Given the description of an element on the screen output the (x, y) to click on. 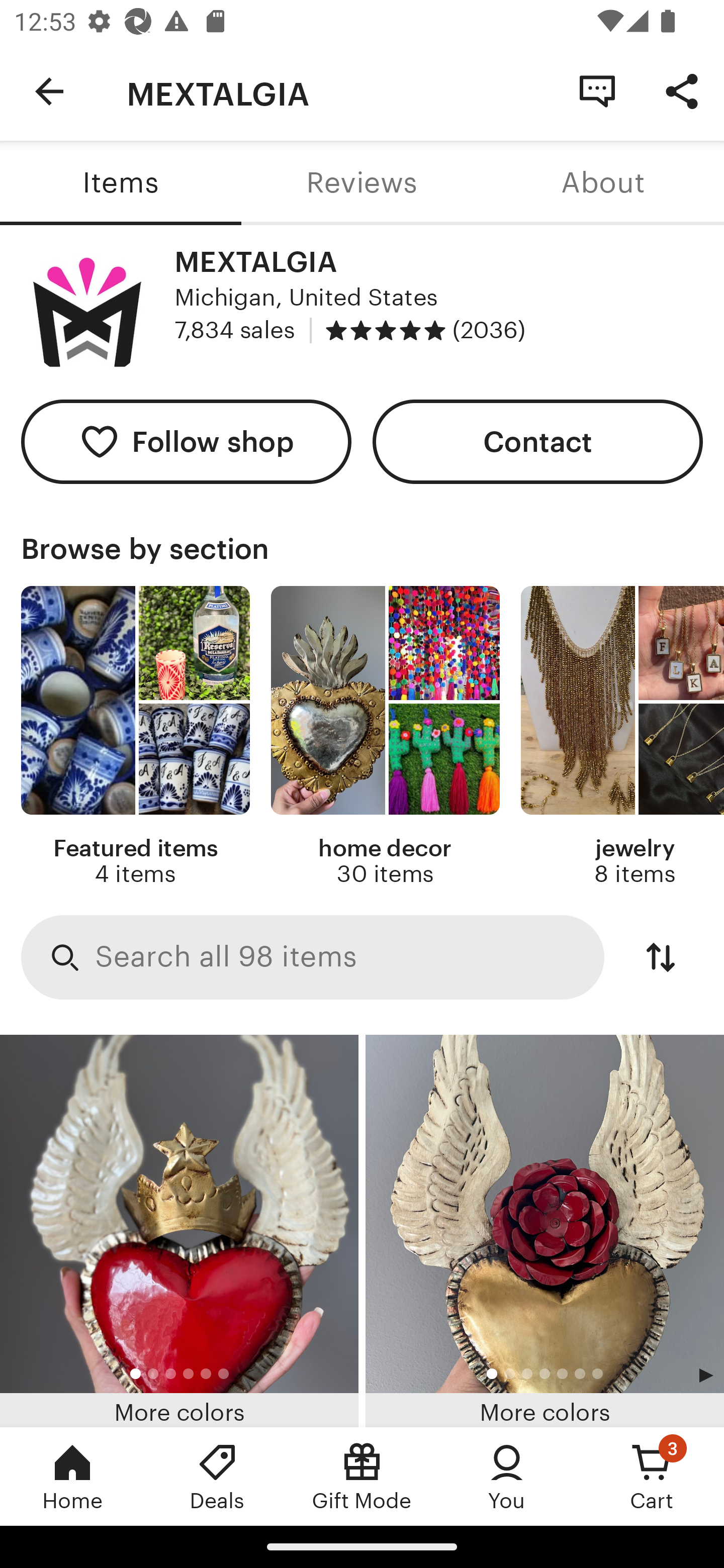
Navigate up (49, 91)
Contact Shop (597, 90)
Share (681, 90)
Reviews (361, 183)
About (603, 183)
Follow shop (185, 441)
Contact (537, 441)
Featured items 4 items (134, 736)
home decor 30 items (384, 736)
jewelry 8 items (622, 736)
Search Search all 98 items (312, 957)
More colors (179, 1230)
More colors (544, 1230)
Deals (216, 1475)
Gift Mode (361, 1475)
You (506, 1475)
Cart, 3 new notifications Cart (651, 1475)
